Given the description of an element on the screen output the (x, y) to click on. 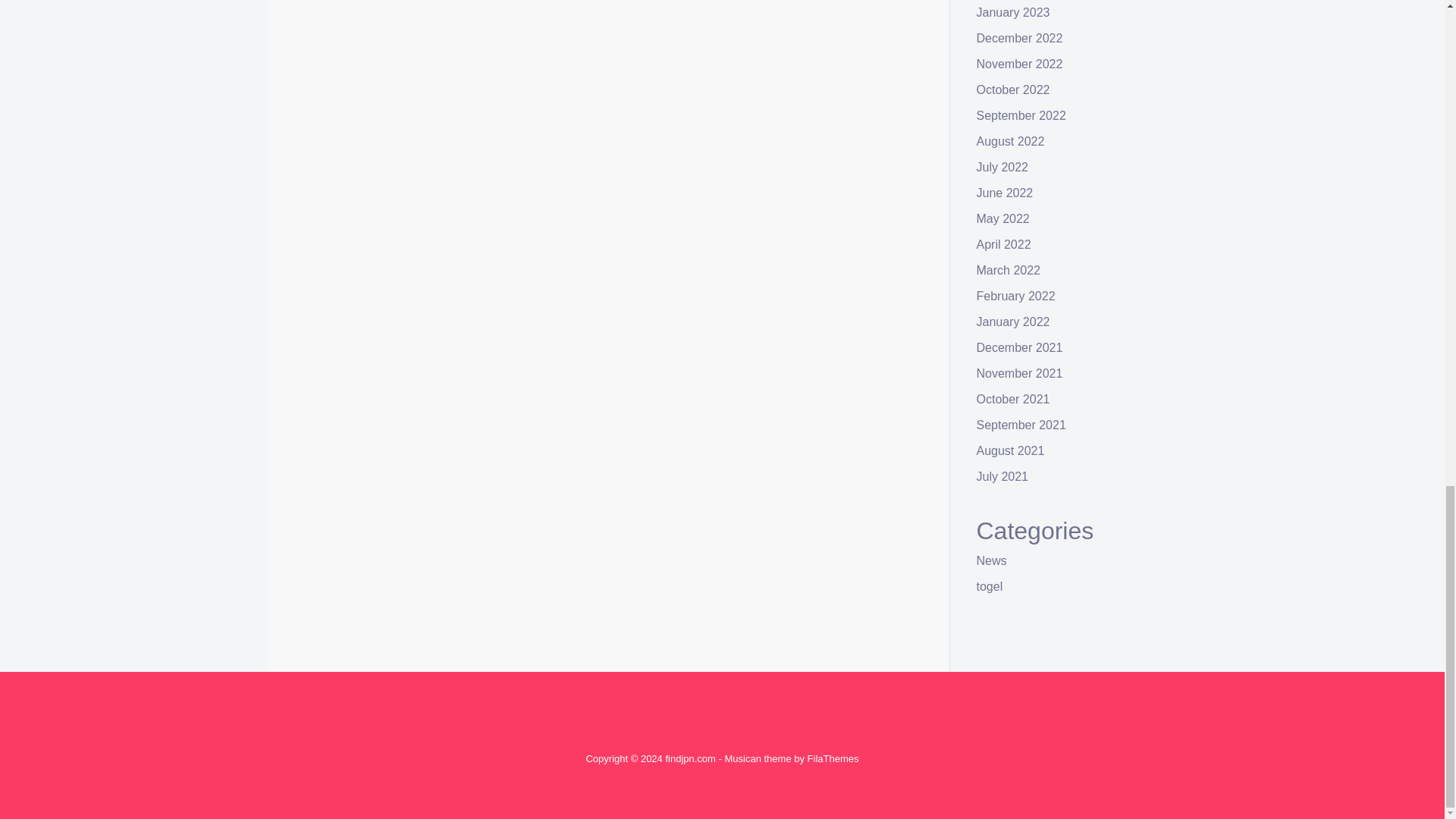
November 2022 (1019, 63)
findjpn.com (689, 758)
December 2022 (1019, 38)
January 2023 (1012, 11)
October 2022 (1012, 89)
